Given the description of an element on the screen output the (x, y) to click on. 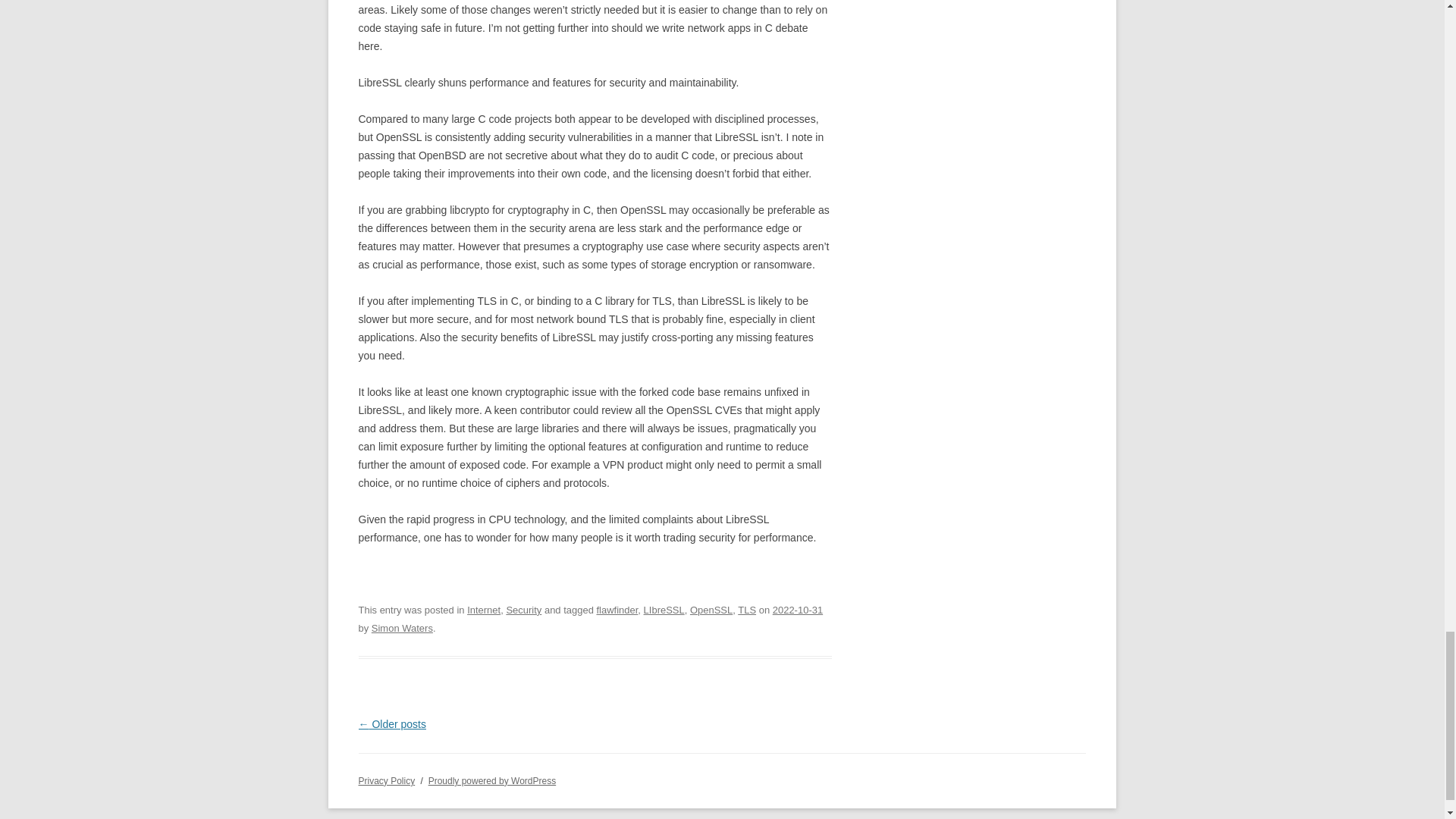
LIbreSSL (663, 609)
OpenSSL (711, 609)
Semantic Personal Publishing Platform (492, 780)
Security (523, 609)
Internet (483, 609)
View all posts by Simon Waters (401, 627)
flawfinder (616, 609)
2022-10-31 (797, 609)
Simon Waters (401, 627)
17:32 (797, 609)
TLS (746, 609)
